Given the description of an element on the screen output the (x, y) to click on. 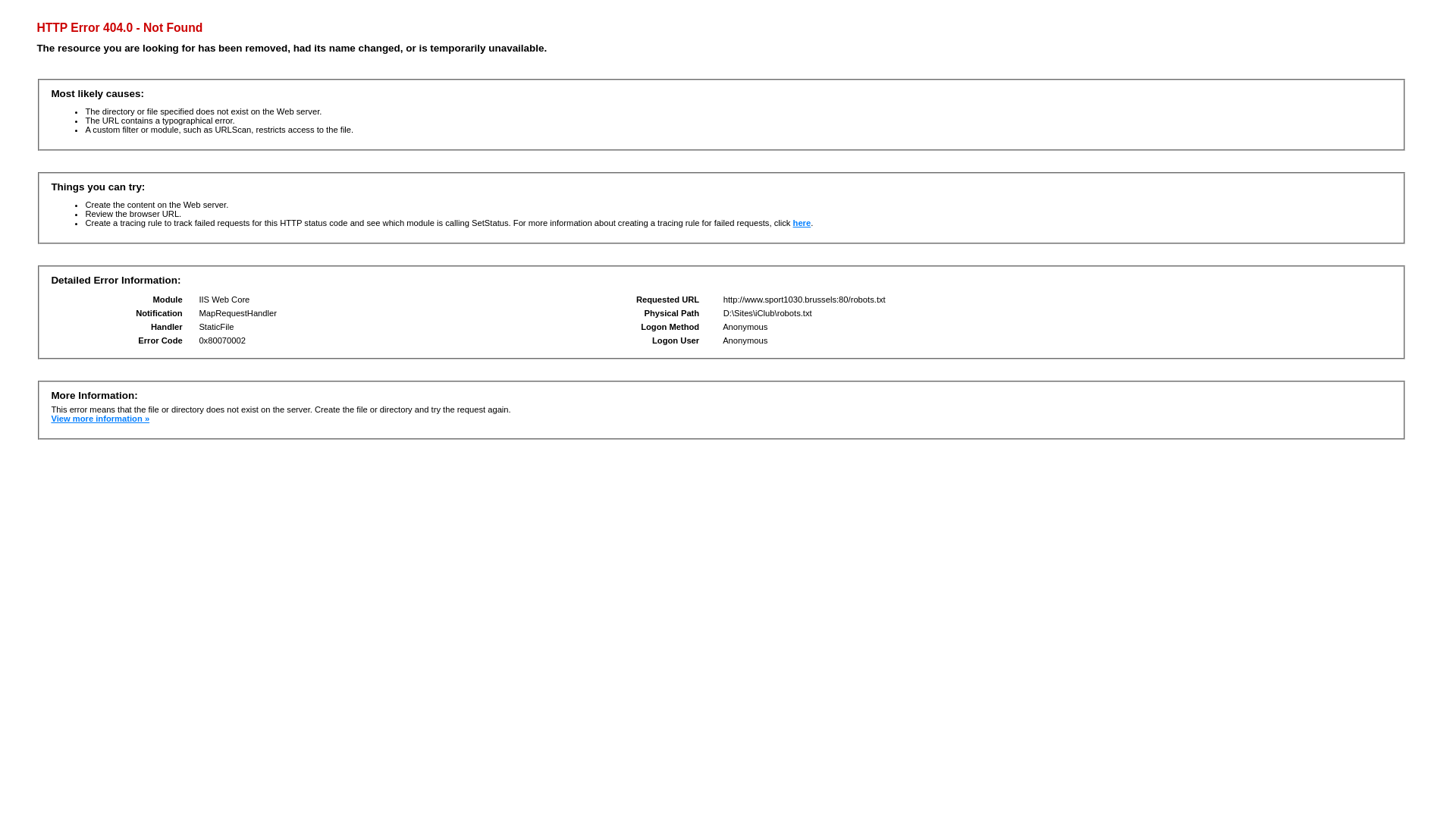
here Element type: text (802, 222)
